Given the description of an element on the screen output the (x, y) to click on. 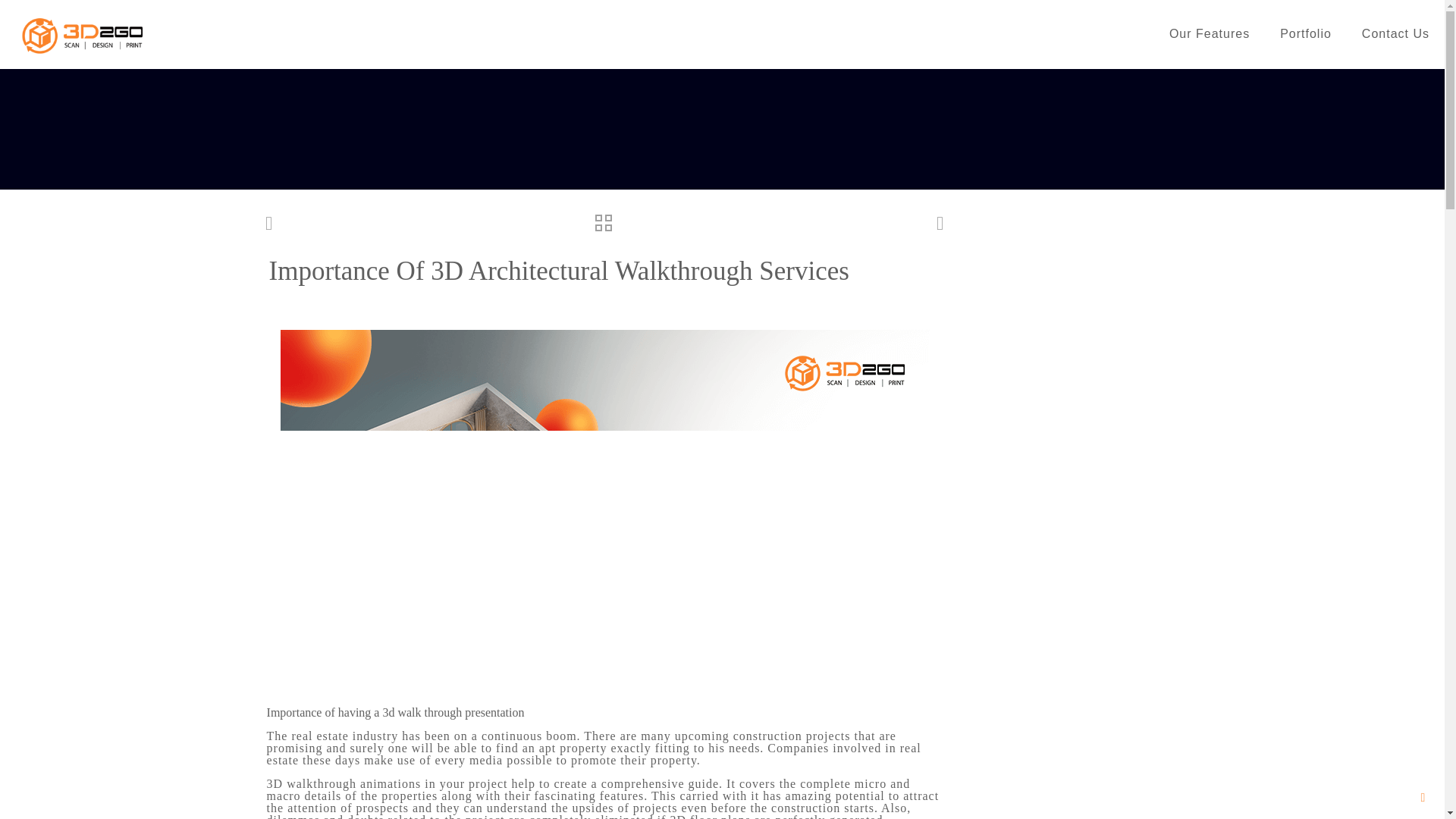
Portfolio (1305, 33)
Our Features (1209, 33)
